Given the description of an element on the screen output the (x, y) to click on. 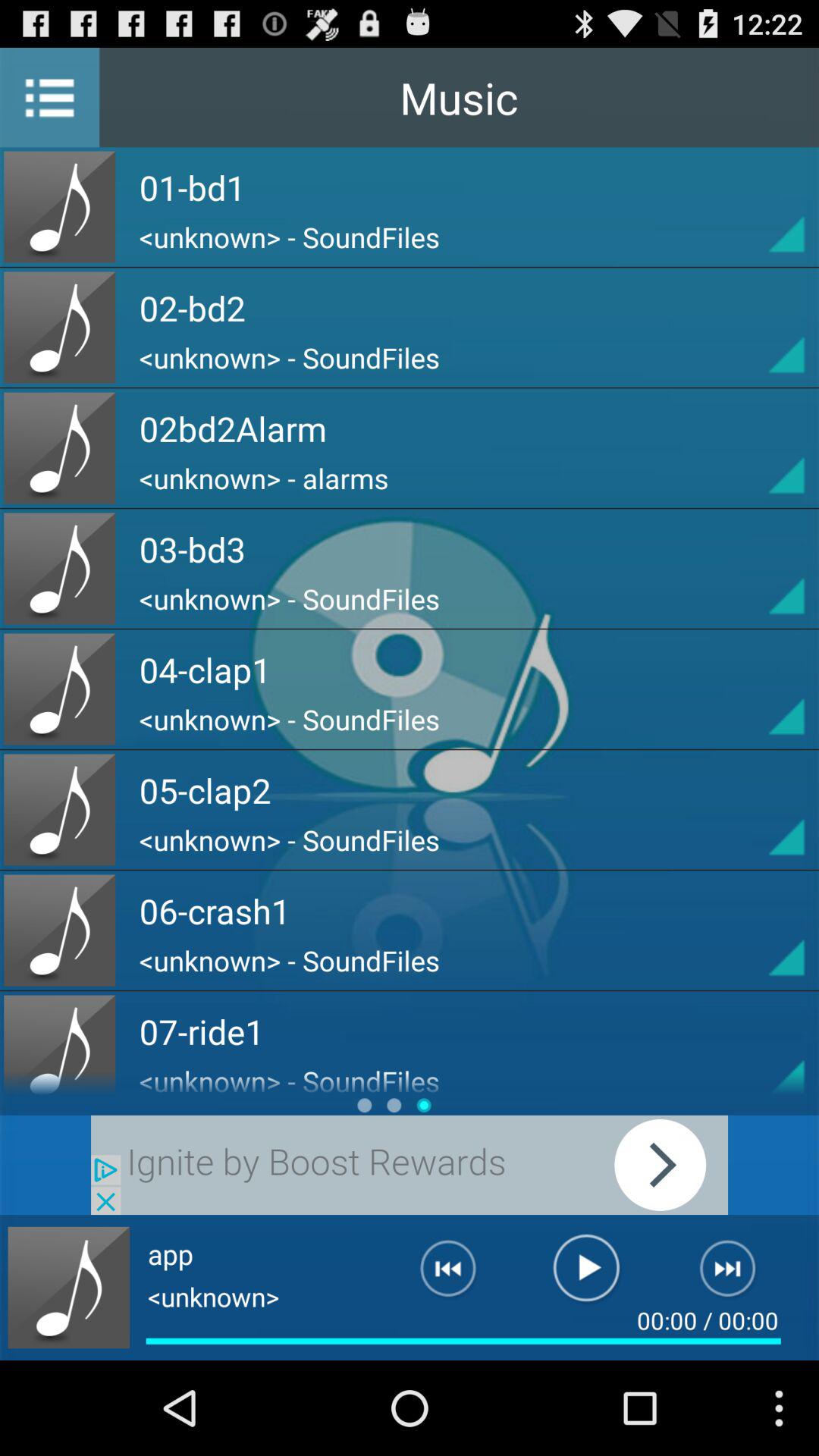
song setting option (759, 809)
